Given the description of an element on the screen output the (x, y) to click on. 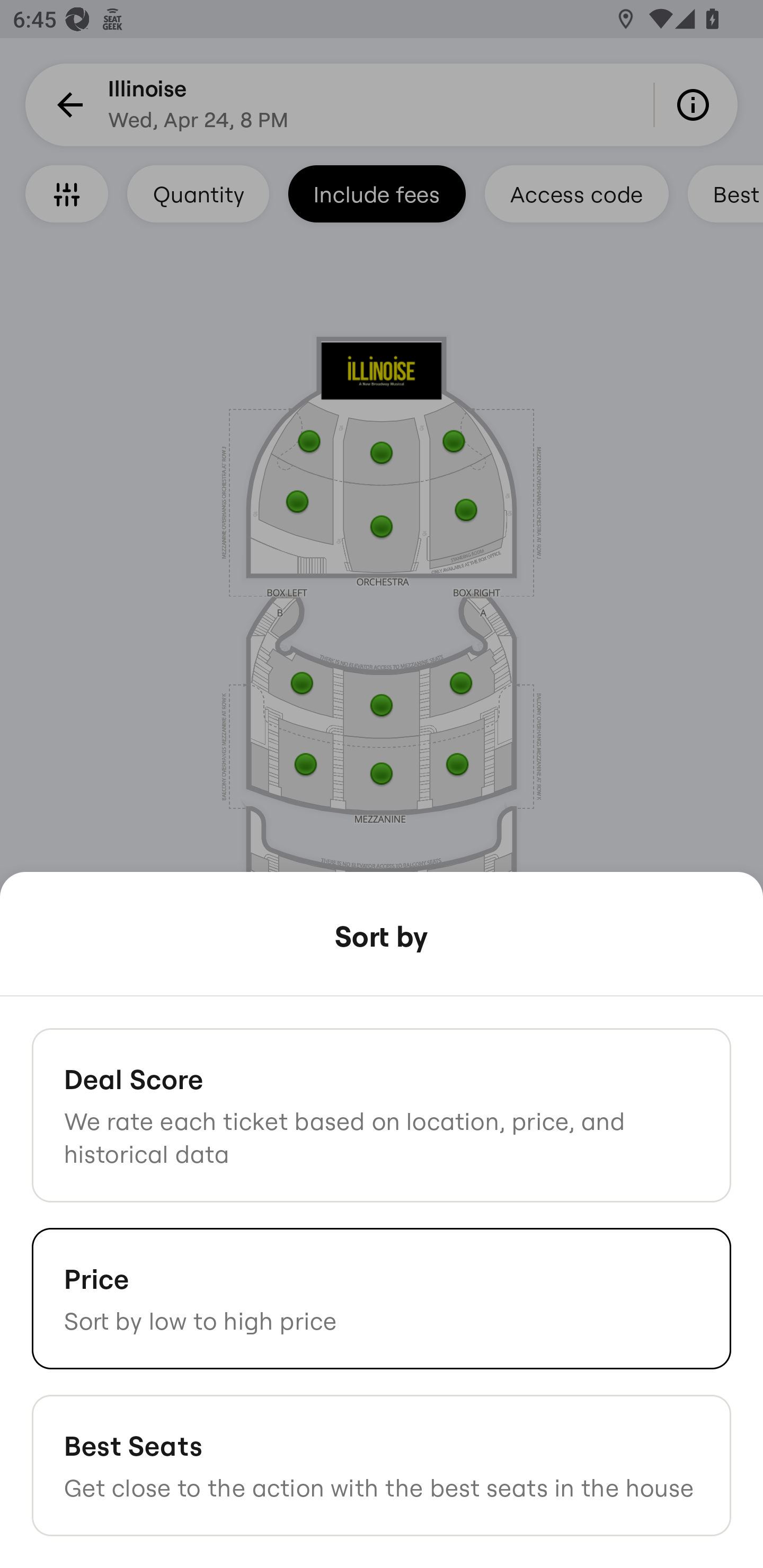
Price Sort by low to high price (381, 1297)
